Given the description of an element on the screen output the (x, y) to click on. 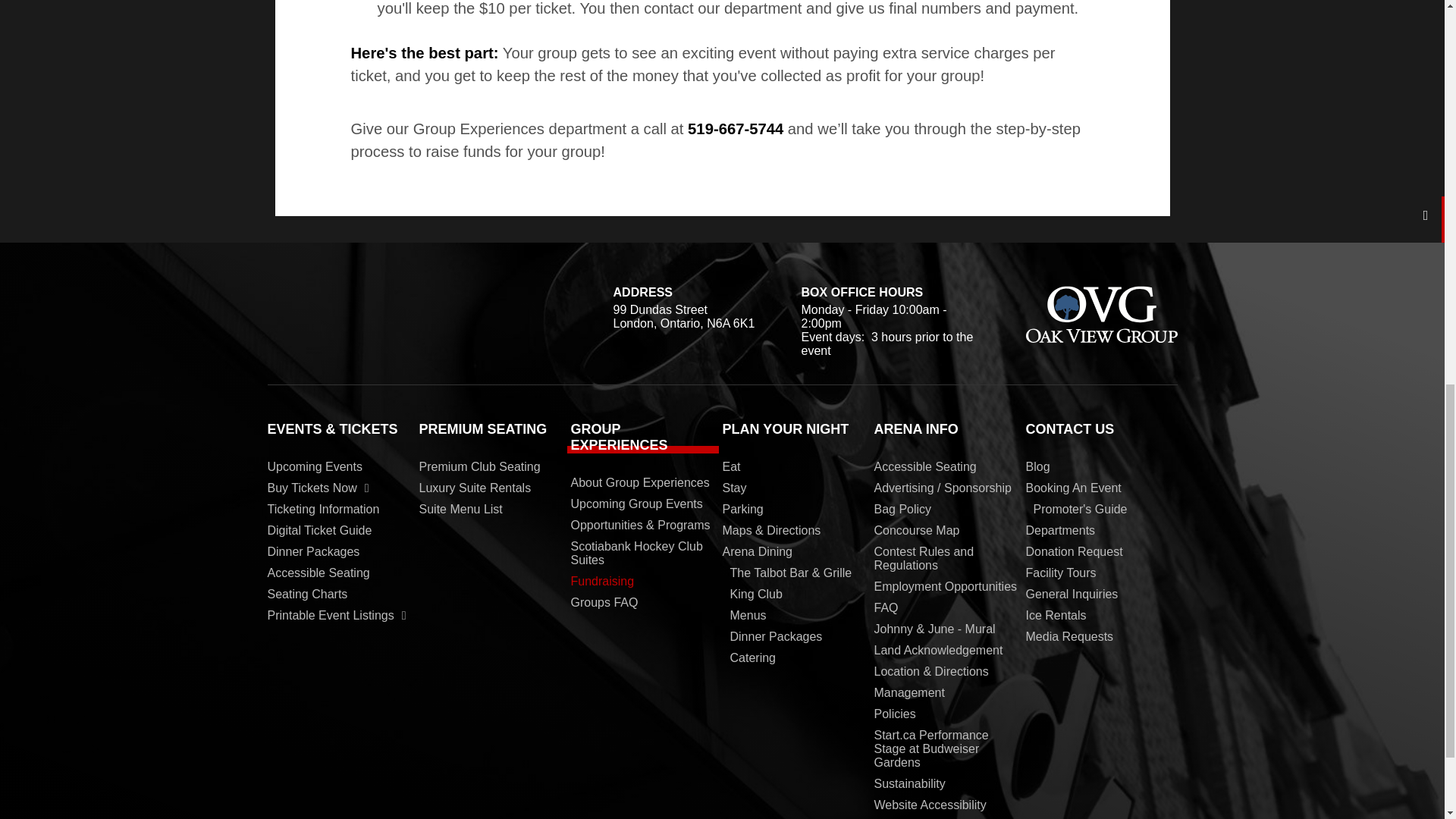
Budweiser Gardens (372, 311)
Oak View Group Link (1100, 314)
